Given the description of an element on the screen output the (x, y) to click on. 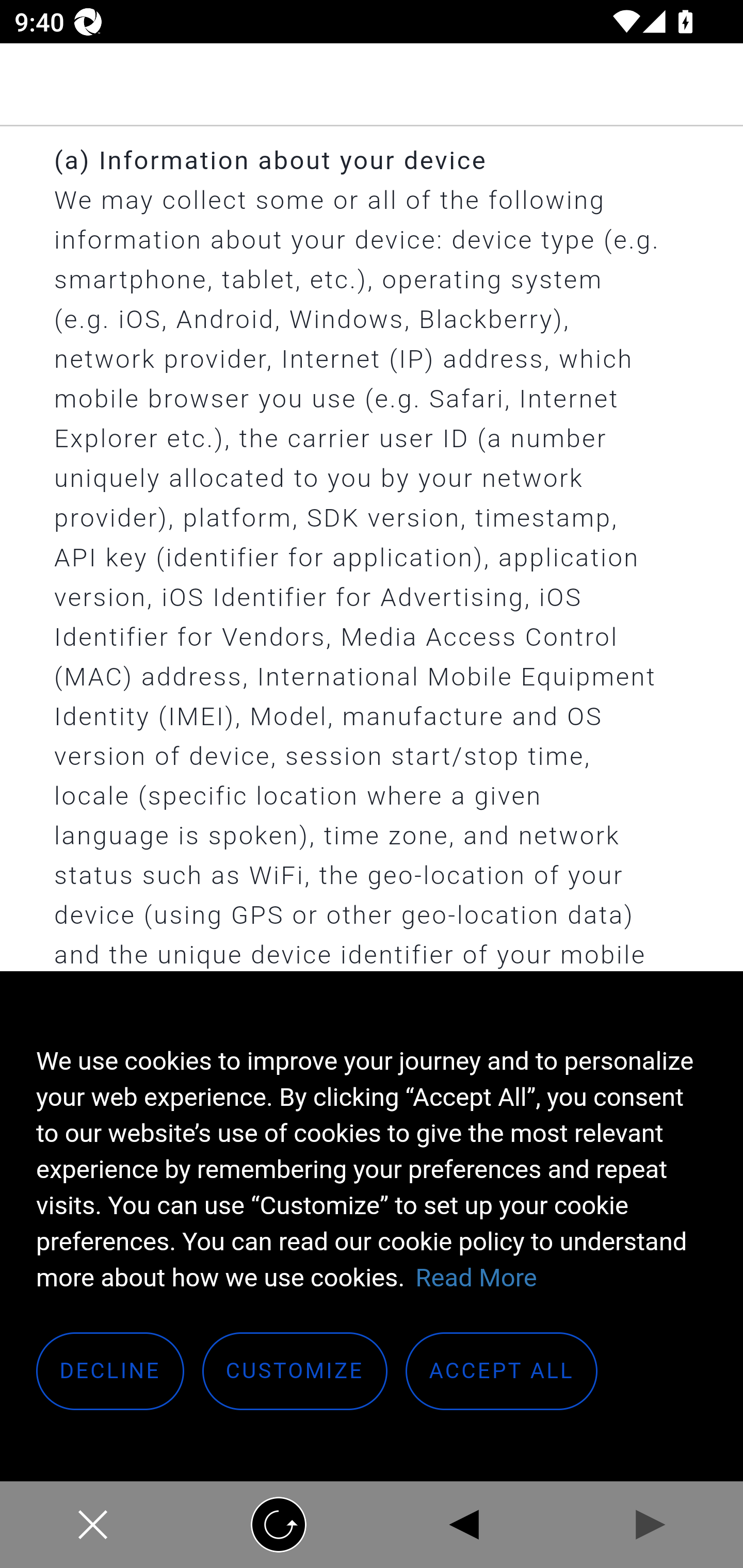
www.inmobi (371, 84)
Read More (476, 1277)
DECLINE (110, 1371)
CUSTOMIZE (294, 1371)
ACCEPT ALL (501, 1371)
